Given the description of an element on the screen output the (x, y) to click on. 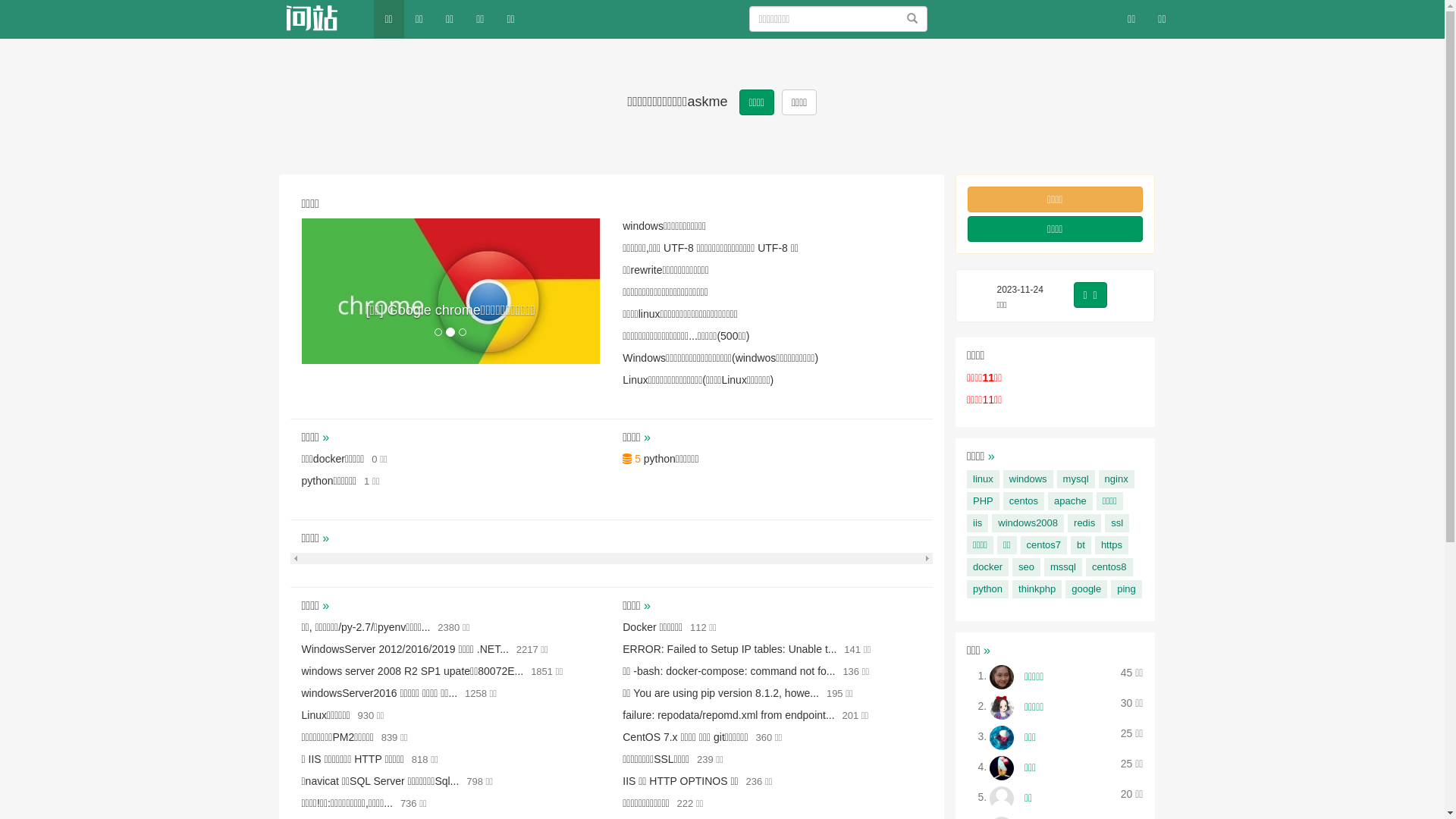
windows Element type: text (1028, 479)
linux Element type: text (982, 479)
mssql Element type: text (1063, 567)
thinkphp Element type: text (1036, 589)
nginx Element type: text (1116, 479)
iis Element type: text (977, 523)
ssl Element type: text (1116, 523)
seo Element type: text (1026, 567)
bt Element type: text (1080, 545)
centos8 Element type: text (1108, 567)
python Element type: text (987, 589)
mysql Element type: text (1076, 479)
redis Element type: text (1084, 523)
ping Element type: text (1126, 589)
ERROR: Failed to Setup IP tables: Unable t... Element type: text (729, 649)
apache Element type: text (1070, 501)
docker Element type: text (987, 567)
windows2008 Element type: text (1027, 523)
centos7 Element type: text (1043, 545)
PHP Element type: text (982, 501)
failure: repodata/repomd.xml from endpoint... Element type: text (728, 715)
https Element type: text (1111, 545)
centos Element type: text (1023, 501)
google Element type: text (1086, 589)
